Given the description of an element on the screen output the (x, y) to click on. 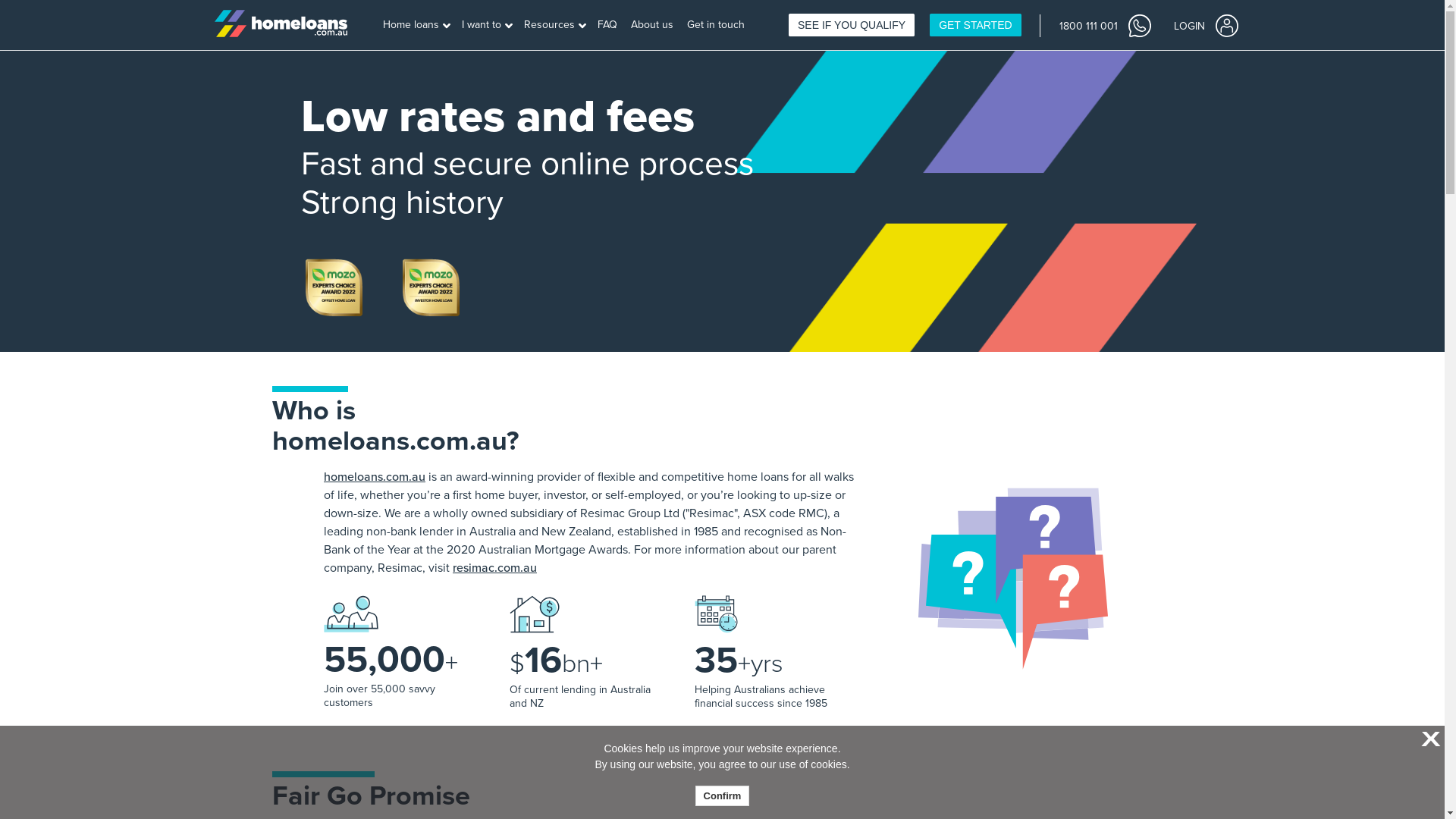
homeloans.com.au Element type: text (374, 476)
About us Element type: text (652, 25)
Home loans Element type: text (416, 25)
Resources Element type: text (555, 25)
I want to Element type: text (486, 25)
FAQ Element type: text (608, 25)
Get in touch Element type: text (716, 25)
LOGIN
  Element type: text (1205, 24)
Who is homeloanscomau Element type: hover (1012, 579)
SEE IF YOU QUALIFY Element type: text (851, 24)
1800 111 001
  Element type: text (1104, 24)
resimac.com.au Element type: text (494, 567)
Confirm Element type: text (722, 795)
GET STARTED Element type: text (974, 24)
X Element type: text (1428, 739)
